Given the description of an element on the screen output the (x, y) to click on. 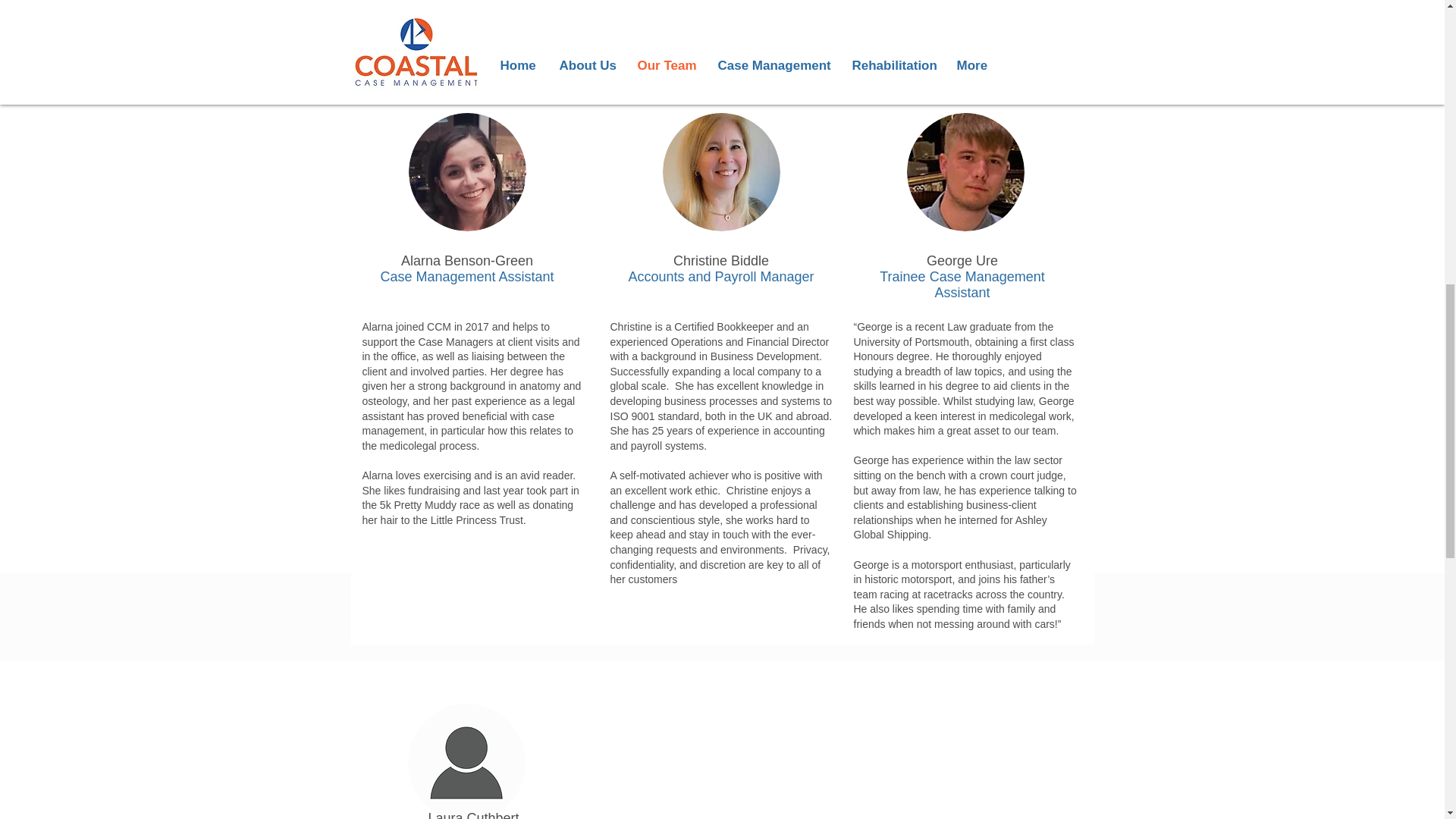
guy4.jpg (721, 171)
guy4.jpg (466, 171)
guy4.jpg (466, 761)
guy4.jpg (966, 171)
